Given the description of an element on the screen output the (x, y) to click on. 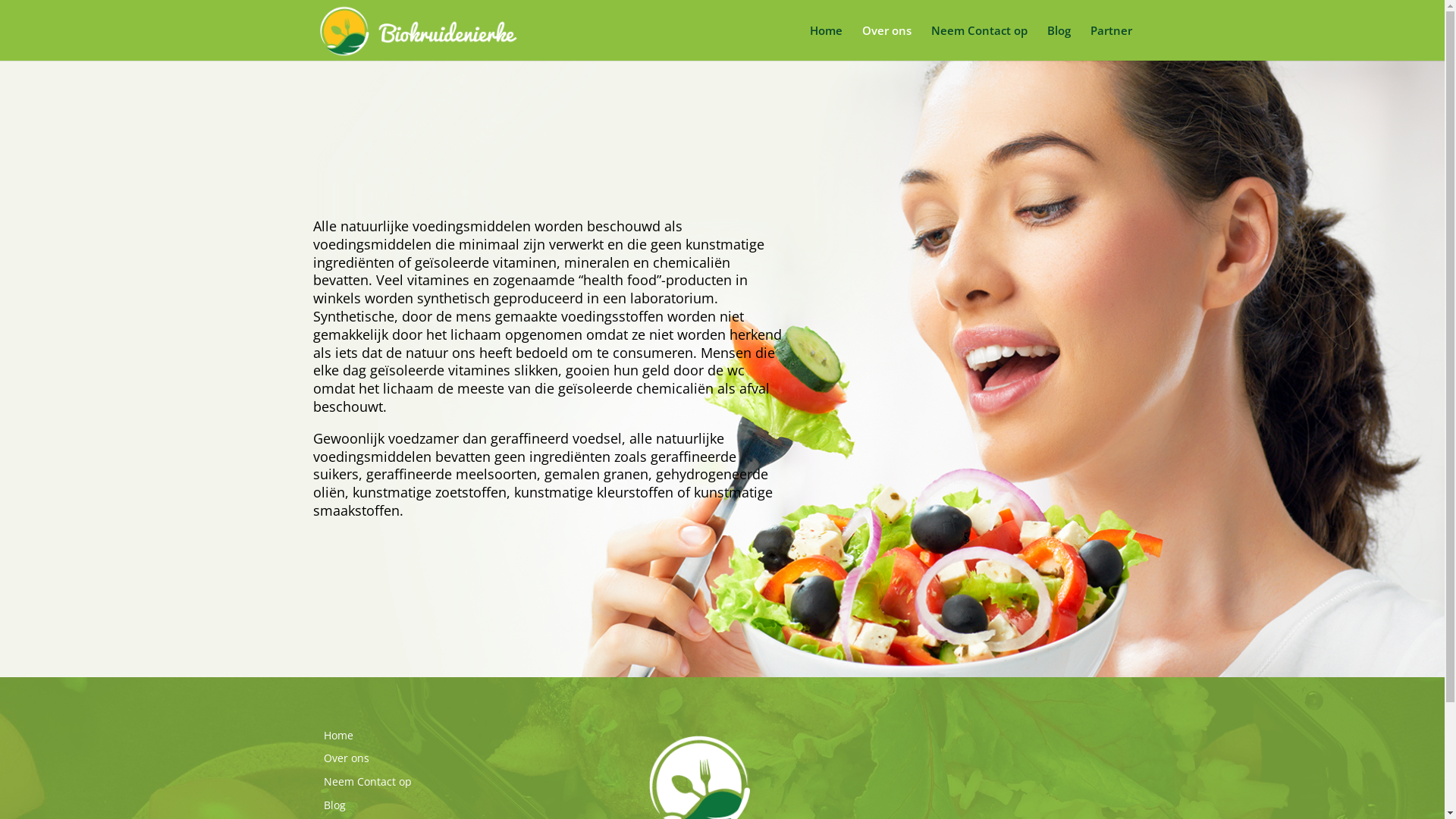
Blog Element type: text (334, 804)
Over ons Element type: text (885, 42)
Over ons Element type: text (345, 757)
Neem Contact op Element type: text (979, 42)
Home Element type: text (337, 735)
Neem Contact op Element type: text (367, 781)
Partner Element type: text (1111, 42)
Home Element type: text (825, 42)
Blog Element type: text (1058, 42)
